Given the description of an element on the screen output the (x, y) to click on. 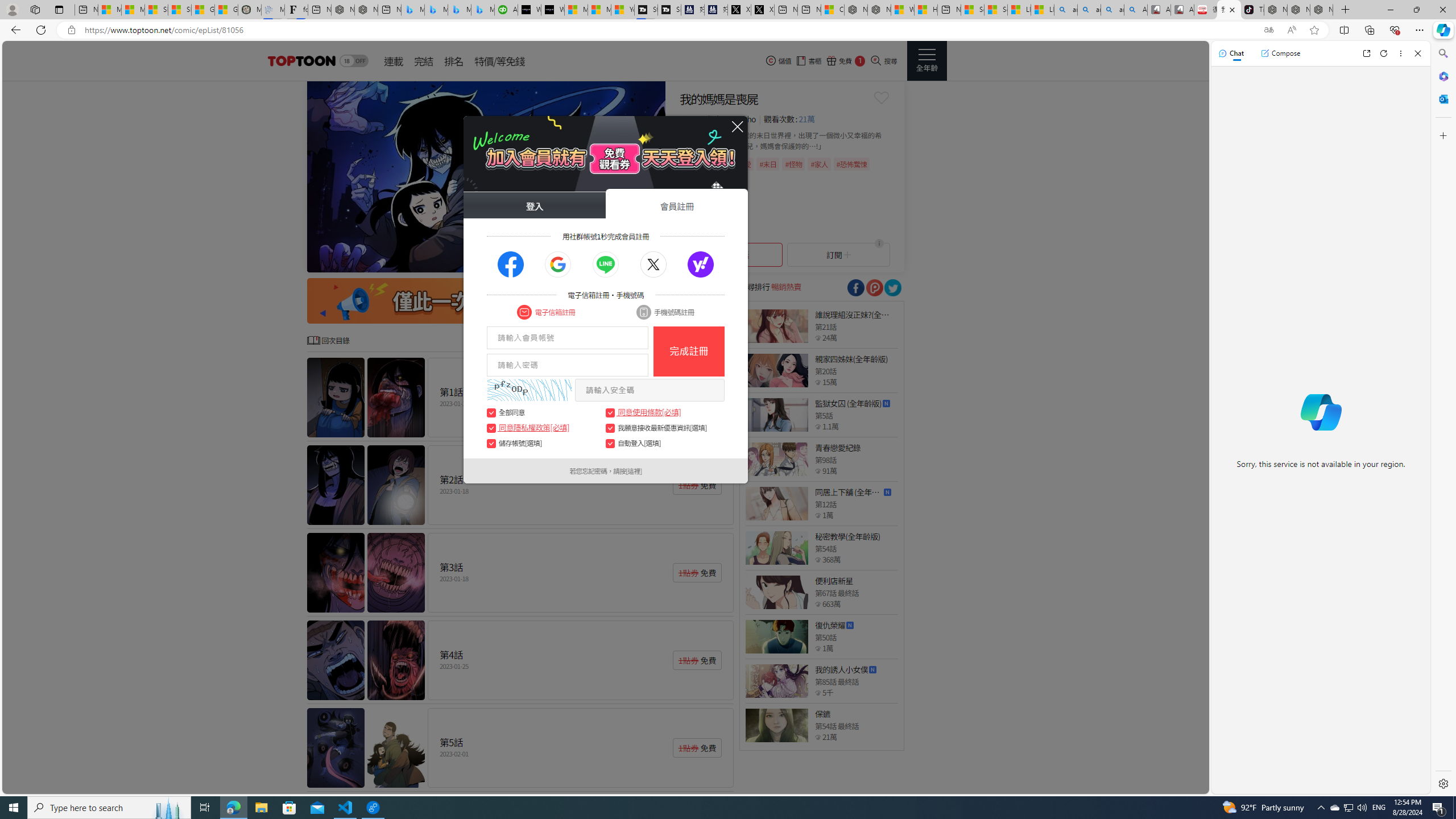
All Cubot phones (1182, 9)
Go to slide 10 (652, 261)
Microsoft Start (598, 9)
